Given the description of an element on the screen output the (x, y) to click on. 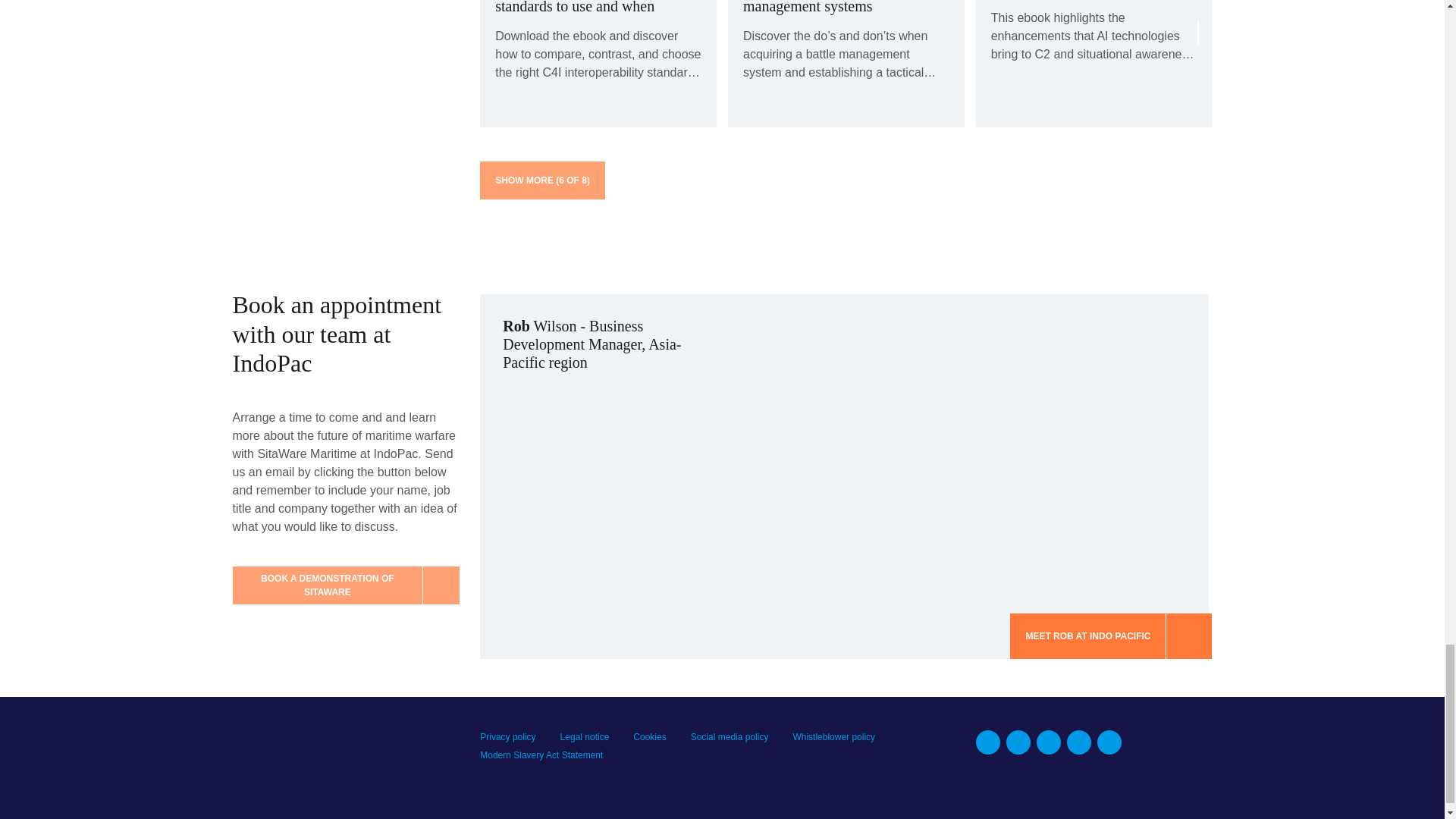
Twitter (1048, 742)
Youtube (1078, 742)
Instagram (1109, 742)
Facebook (1018, 742)
Linkedin (987, 742)
